Given the description of an element on the screen output the (x, y) to click on. 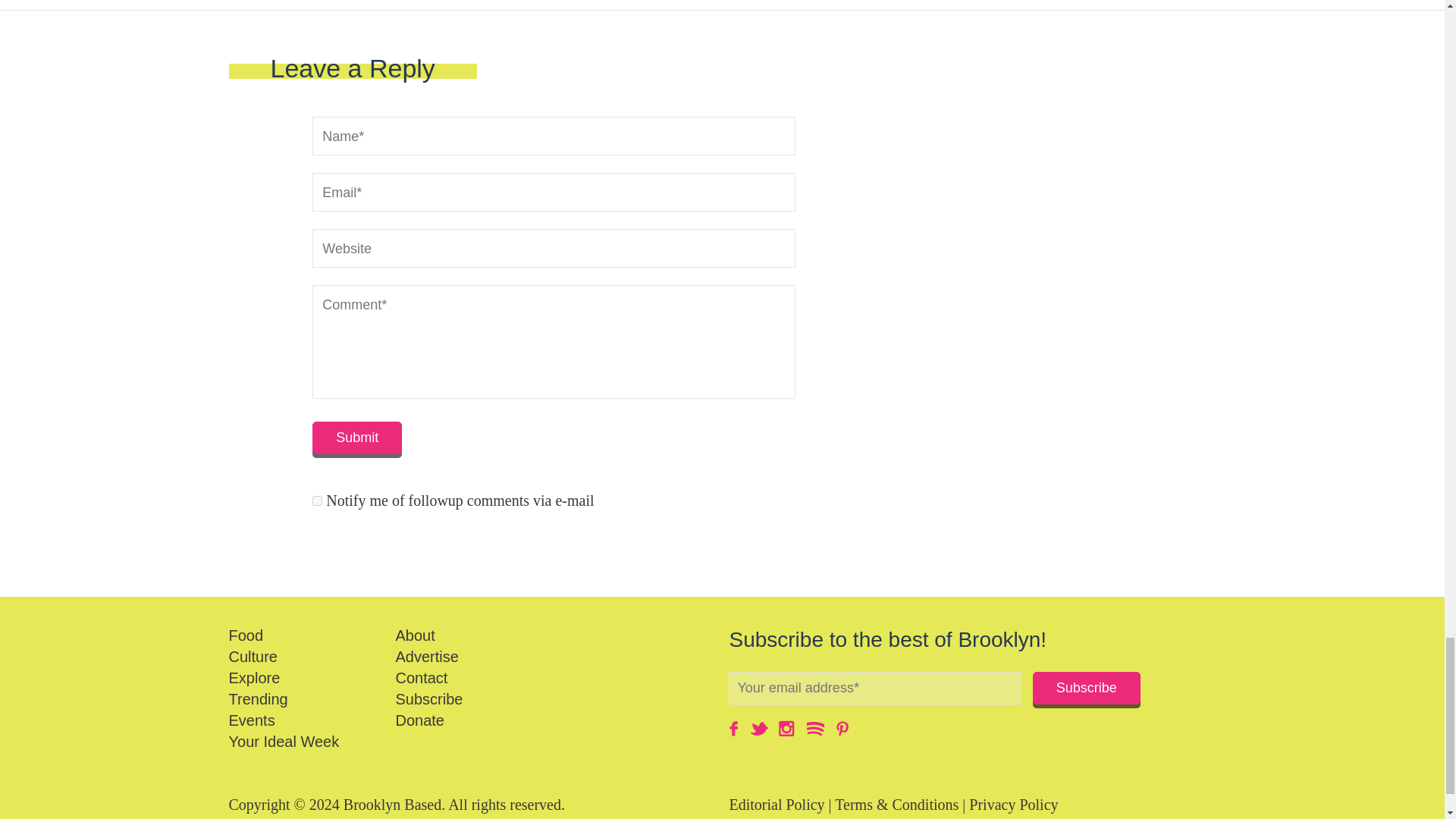
Food (245, 635)
Submit (357, 437)
Subscribe (1086, 687)
Submit (357, 437)
Explore (254, 677)
subscribe (317, 501)
Culture (253, 656)
